Given the description of an element on the screen output the (x, y) to click on. 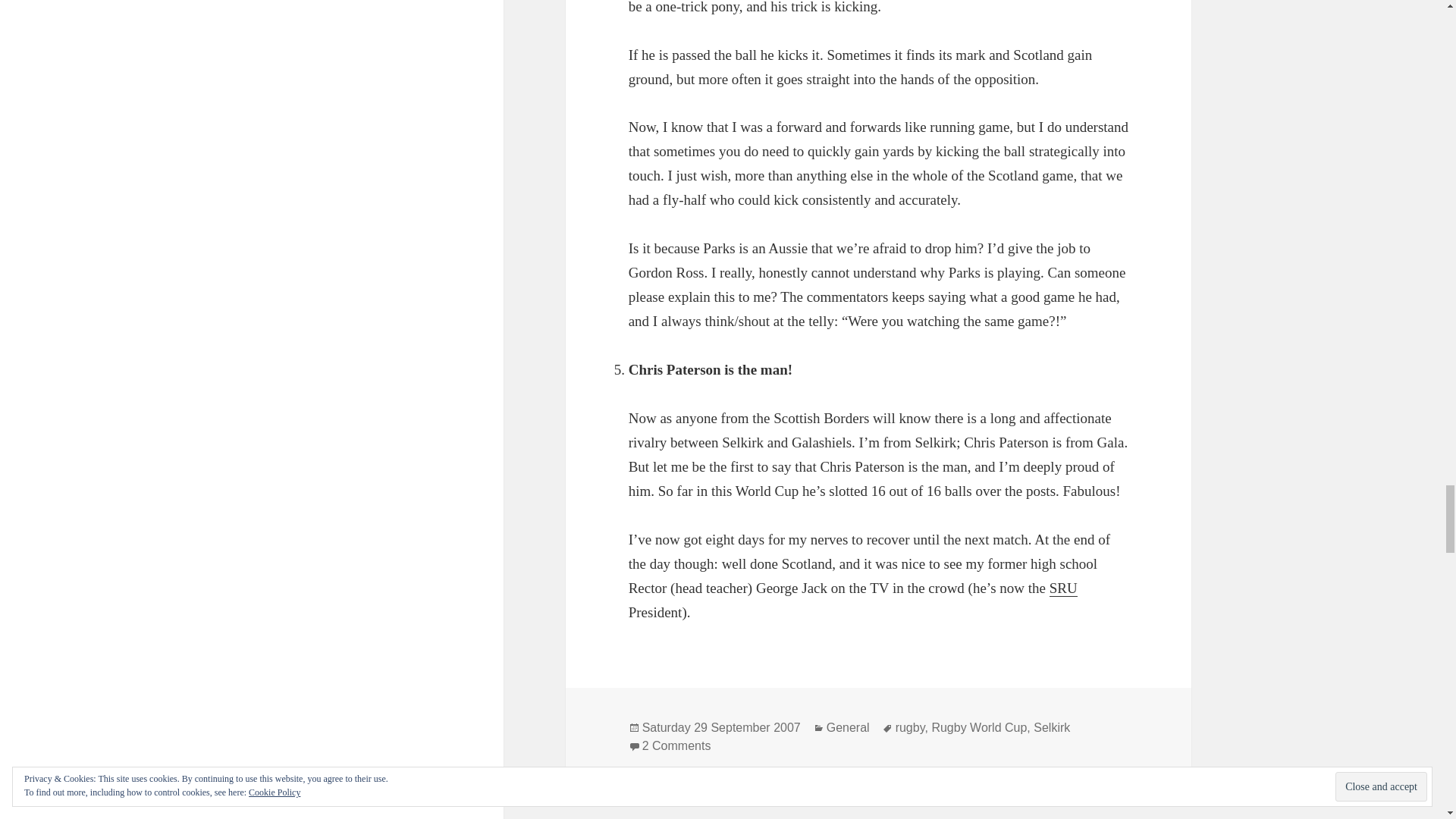
Scottish Rugby Union (1063, 588)
